Given the description of an element on the screen output the (x, y) to click on. 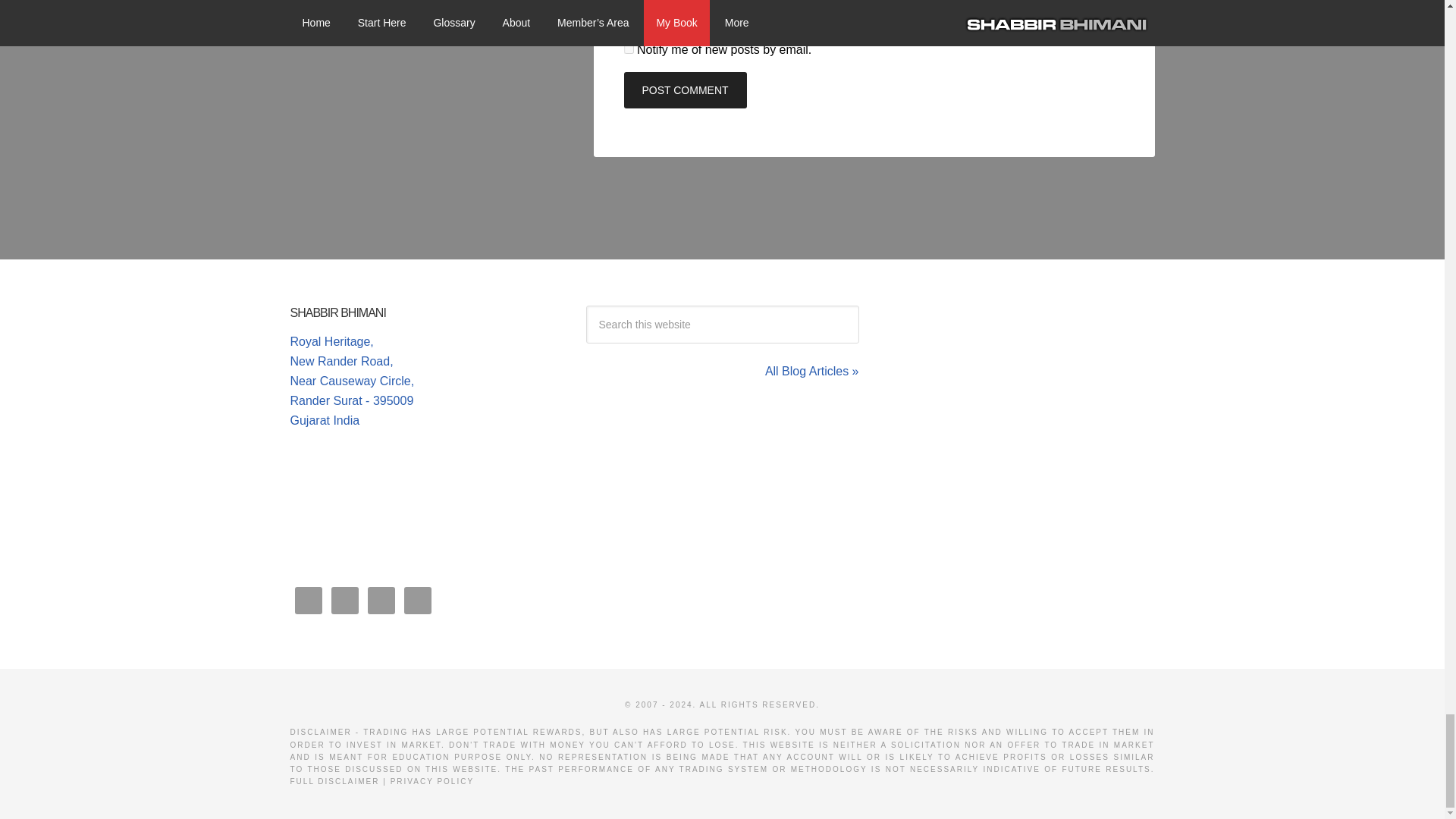
Post Comment (684, 90)
subscribe (628, 49)
subscribe (628, 17)
